Given the description of an element on the screen output the (x, y) to click on. 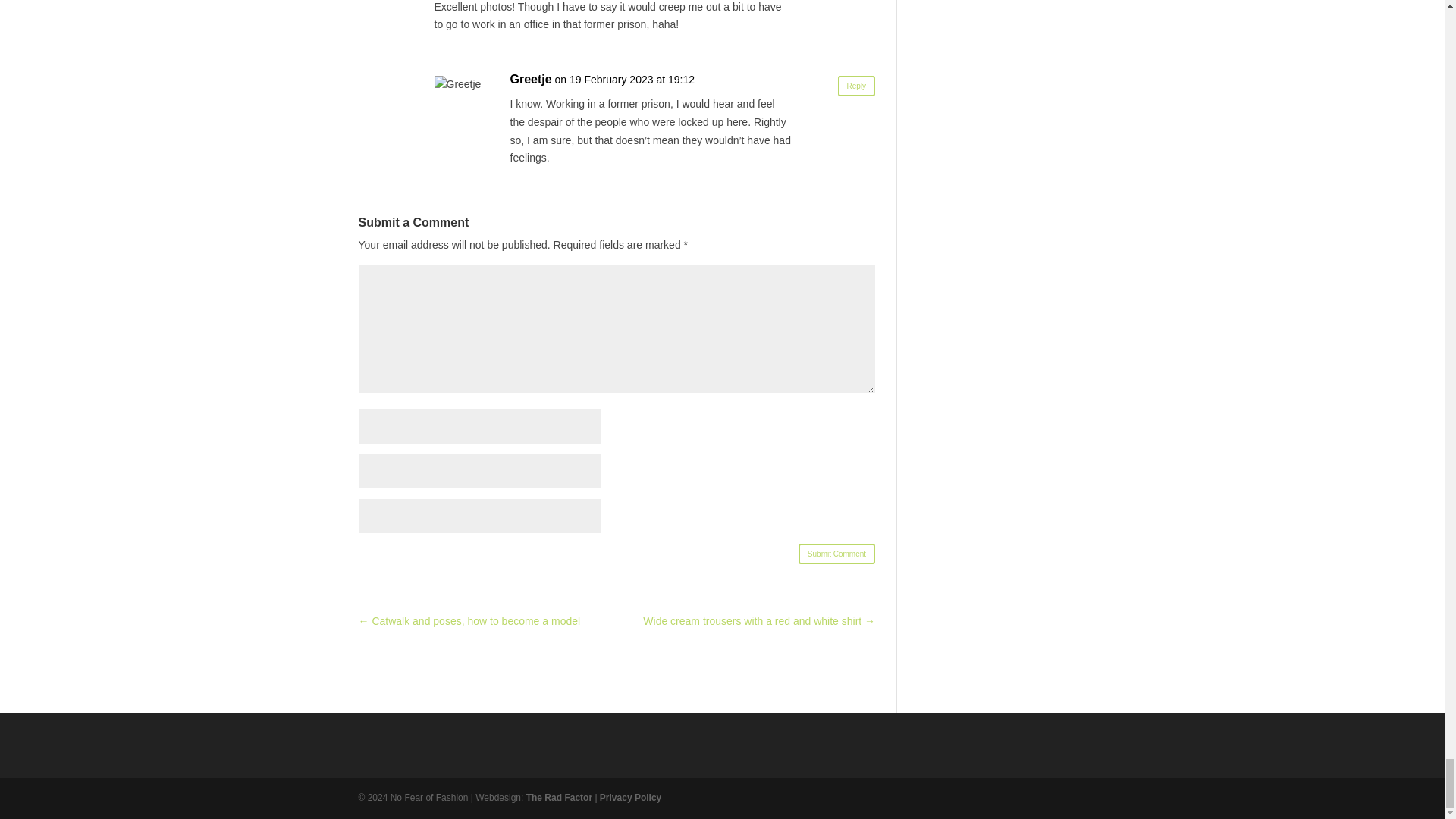
Submit Comment (836, 553)
